Given the description of an element on the screen output the (x, y) to click on. 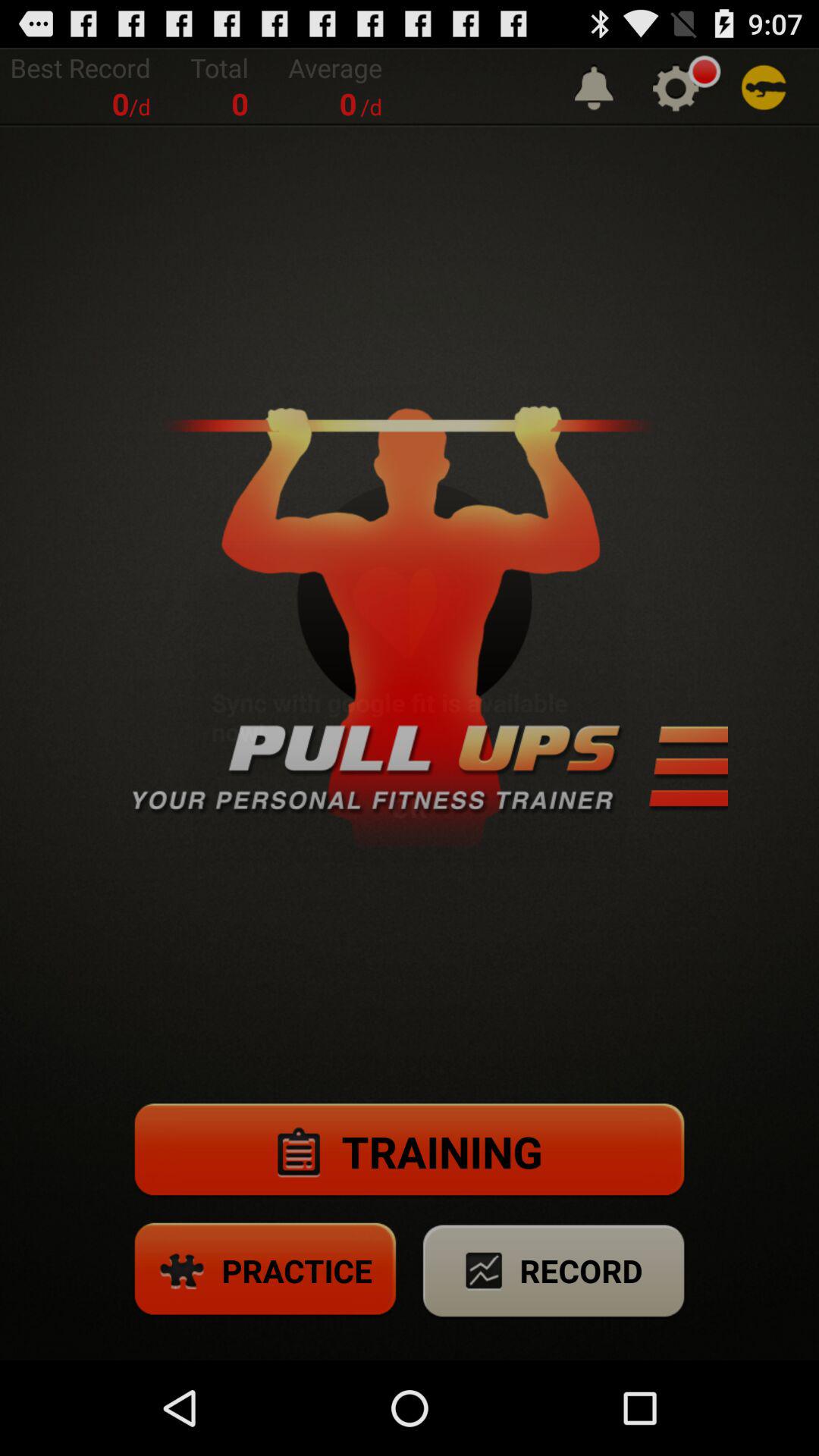
go to settings (675, 87)
